Given the description of an element on the screen output the (x, y) to click on. 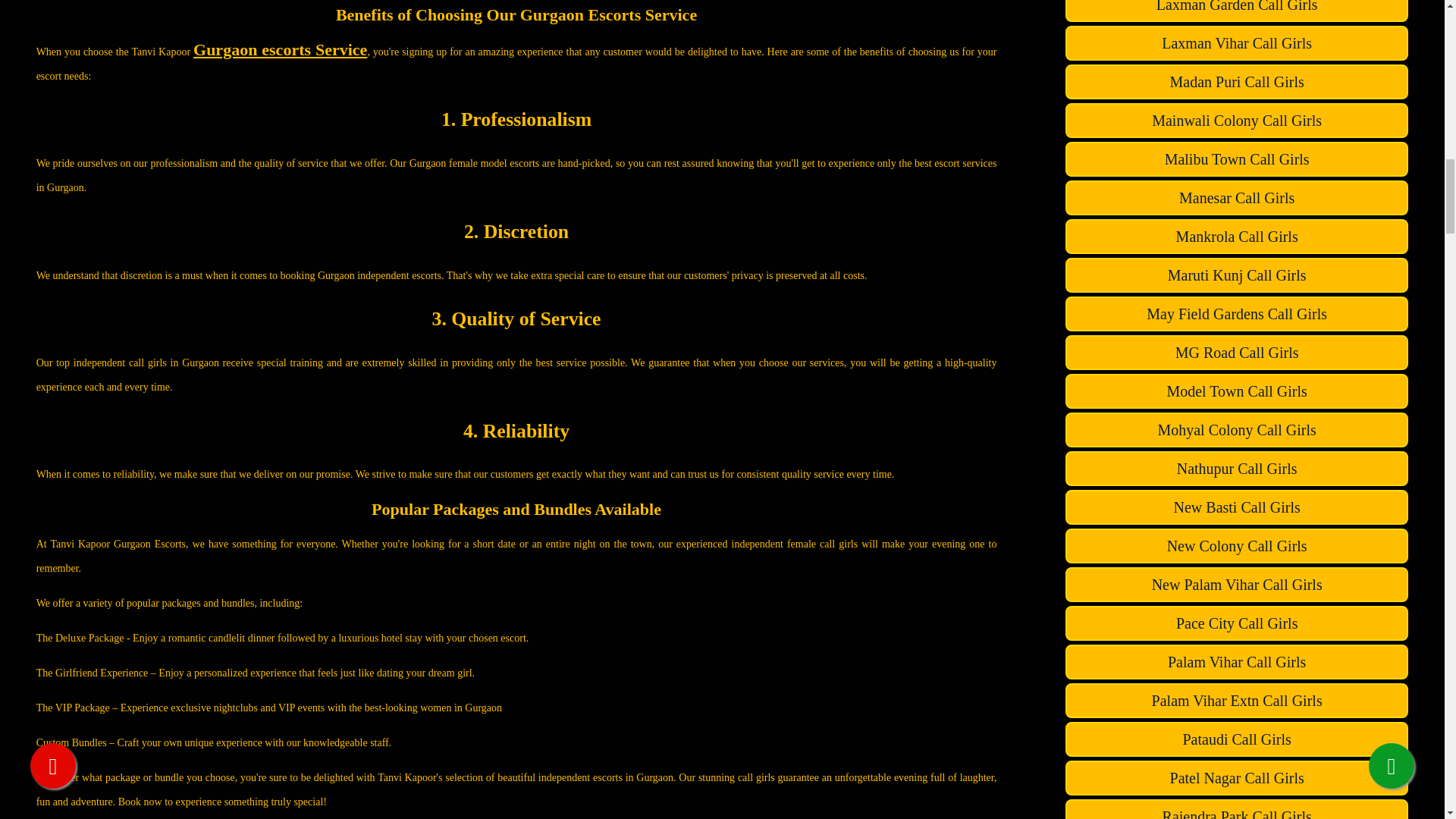
Gurgaon escorts Service (279, 49)
